Given the description of an element on the screen output the (x, y) to click on. 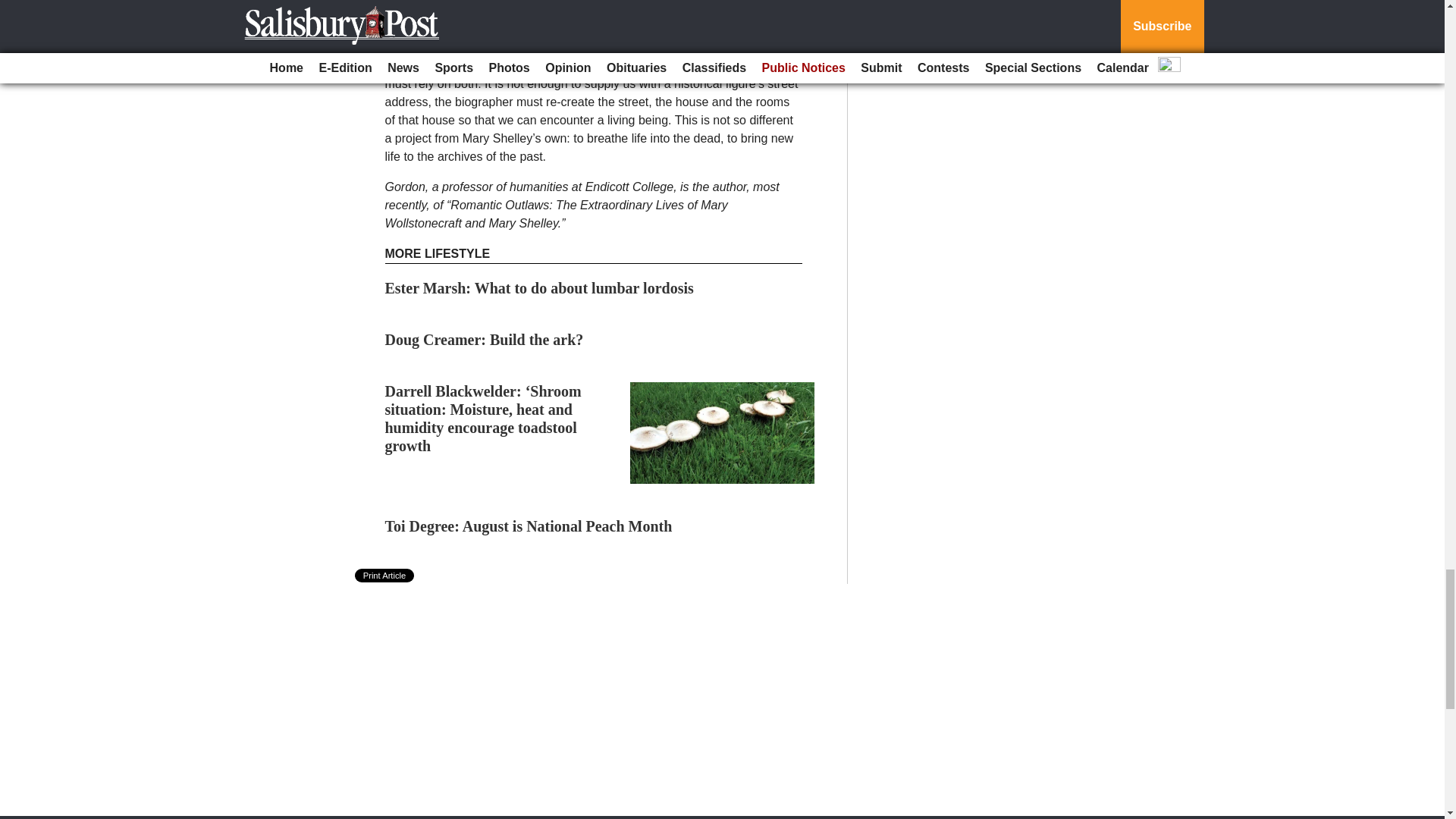
Doug Creamer: Build the ark? (484, 339)
Ester Marsh: What to do about lumbar lordosis (539, 288)
Toi Degree: August is National Peach Month (528, 525)
